Given the description of an element on the screen output the (x, y) to click on. 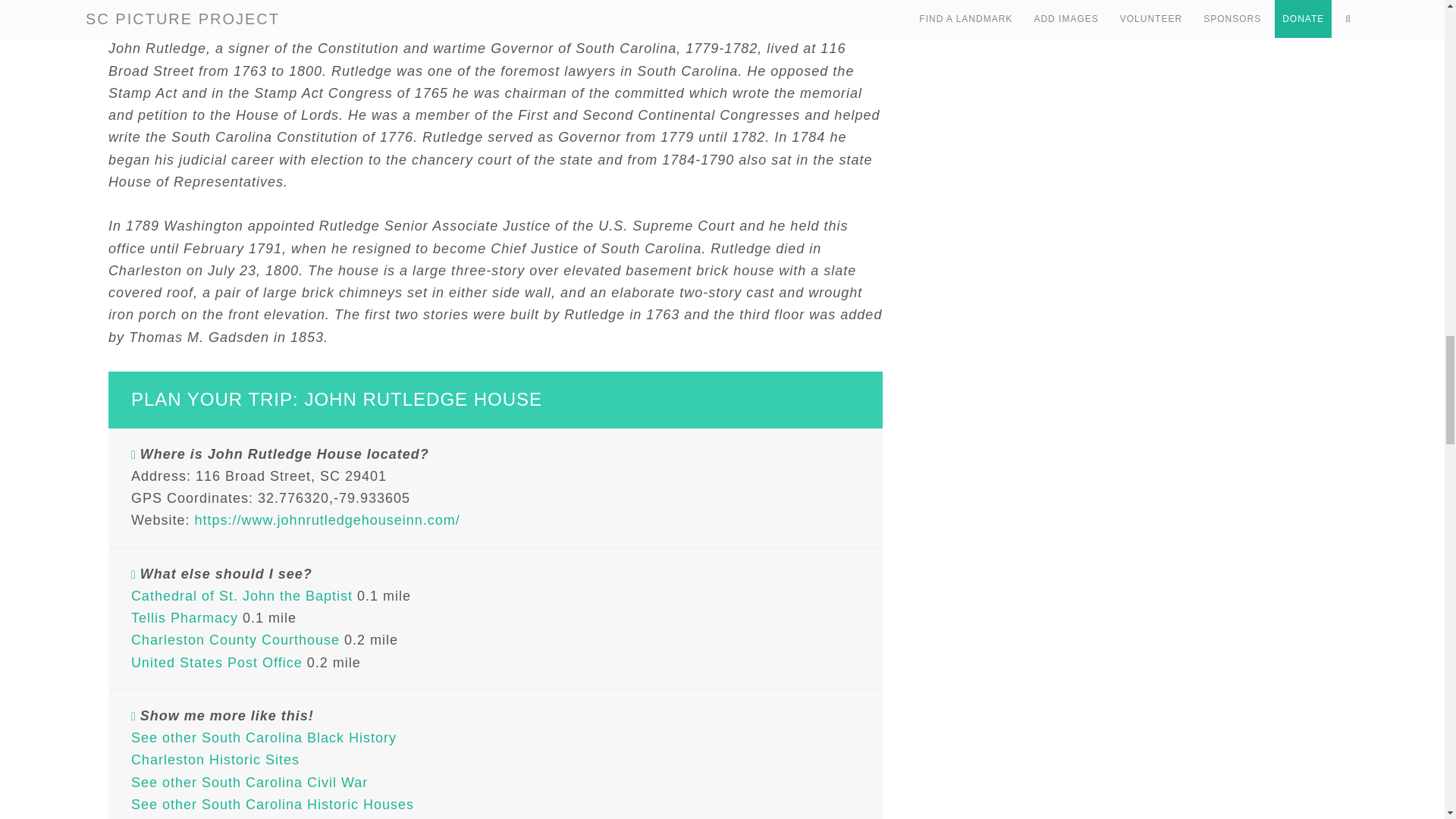
Charleston Historic Sites (215, 759)
Charleston County Courthouse (235, 639)
Tellis Pharmacy (184, 617)
United States Post Office (216, 662)
Cathedral of St. John the Baptist (241, 595)
See other South Carolina Historic Houses (272, 804)
See other South Carolina Black History (263, 737)
National Register (446, 5)
See other South Carolina Civil War (249, 782)
